Given the description of an element on the screen output the (x, y) to click on. 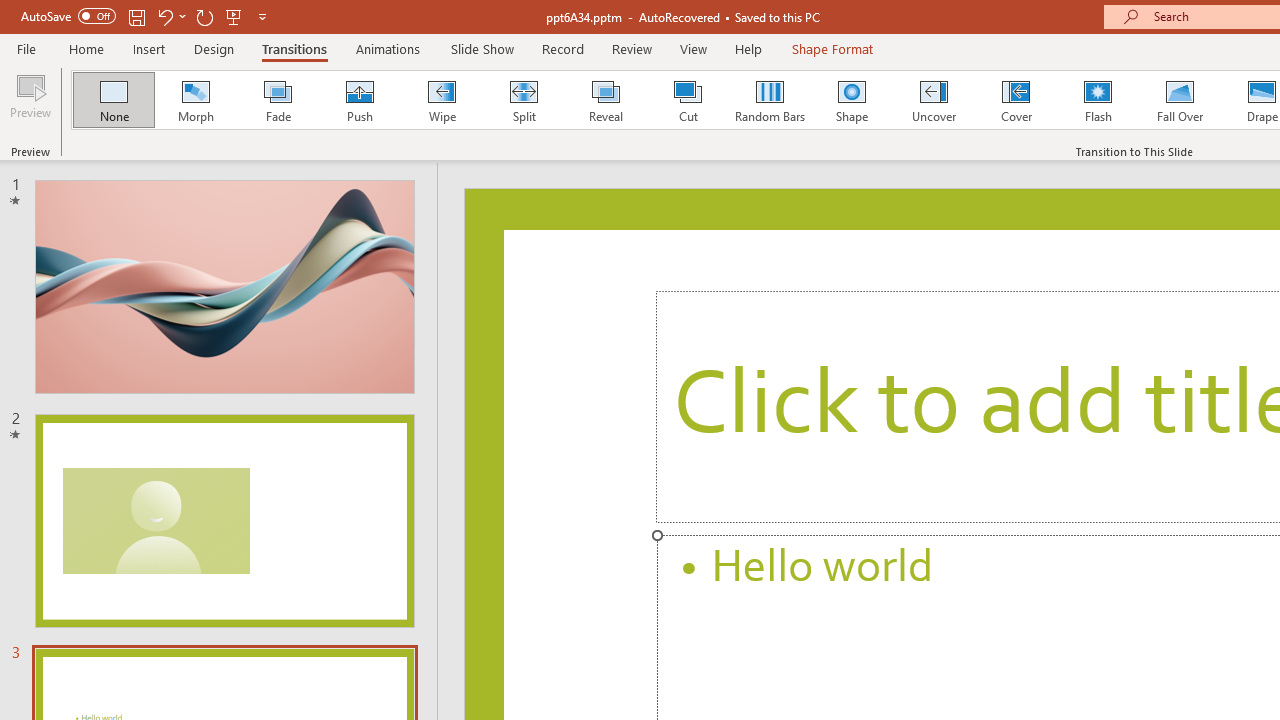
Fall Over (1180, 100)
Uncover (934, 100)
Morph (195, 100)
